Given the description of an element on the screen output the (x, y) to click on. 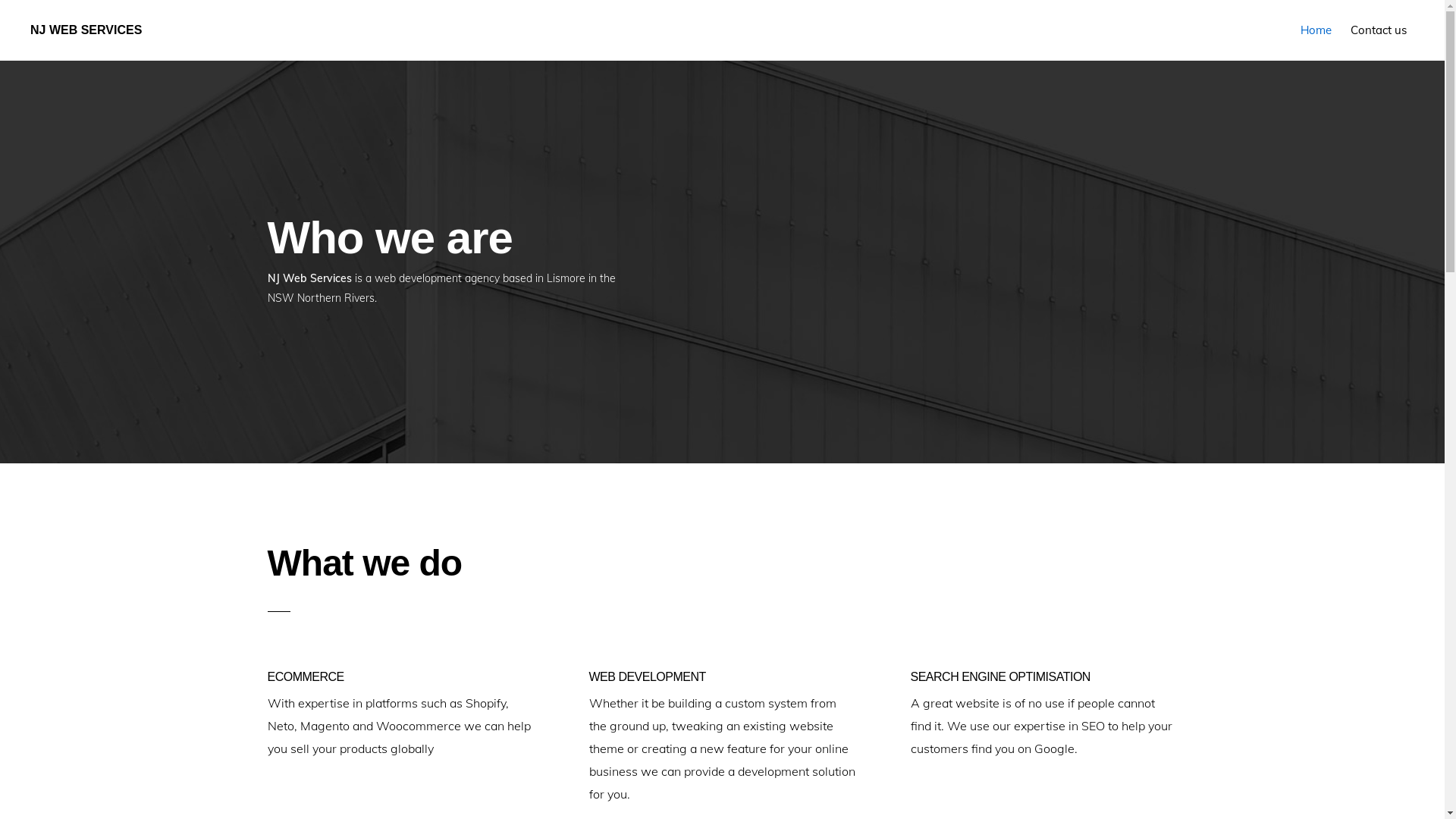
Skip to primary navigation Element type: text (0, 0)
Home Element type: text (1315, 29)
Contact us Element type: text (1378, 29)
NJ WEB SERVICES Element type: text (85, 29)
